Given the description of an element on the screen output the (x, y) to click on. 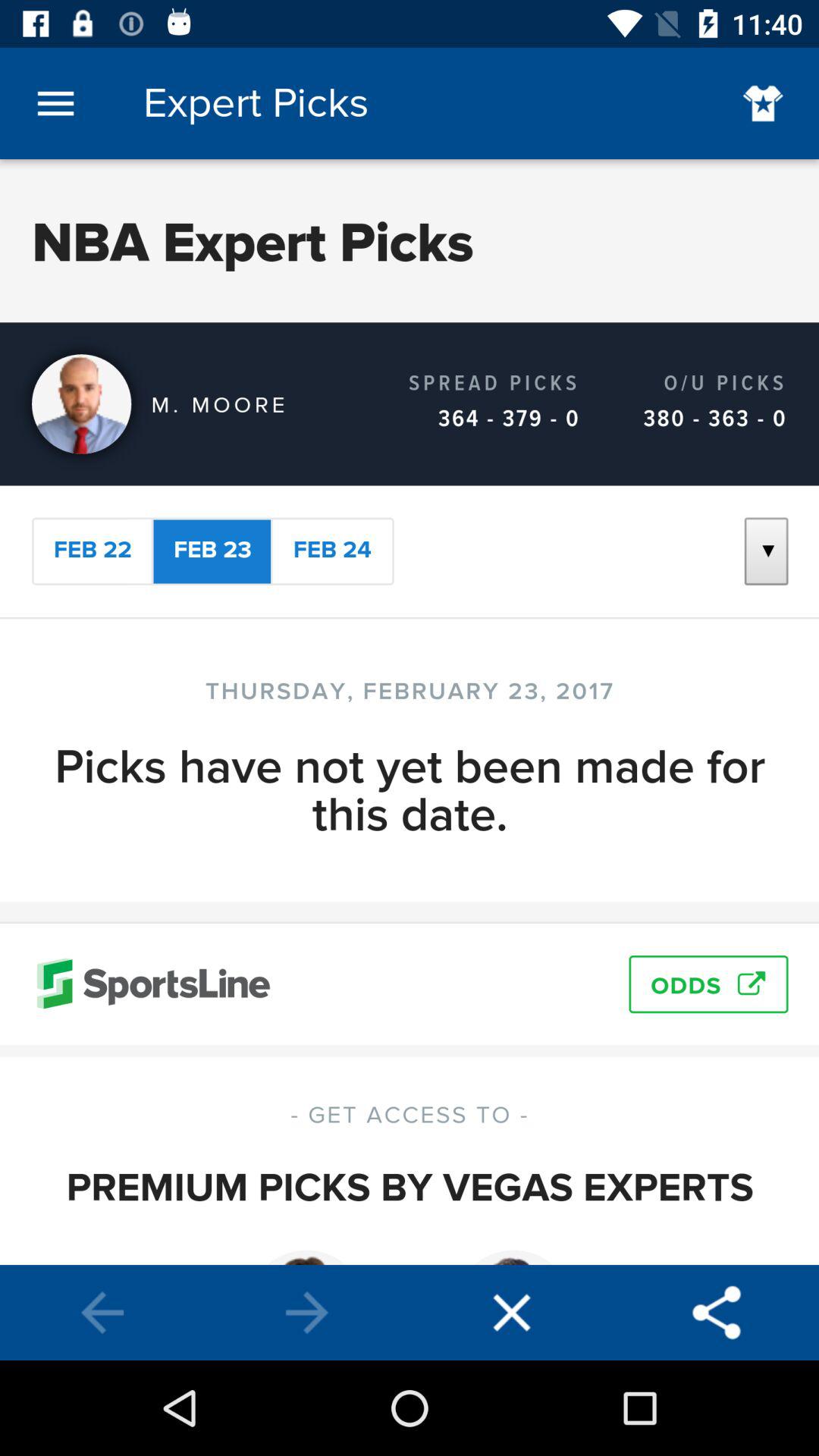
go back (102, 1312)
